Given the description of an element on the screen output the (x, y) to click on. 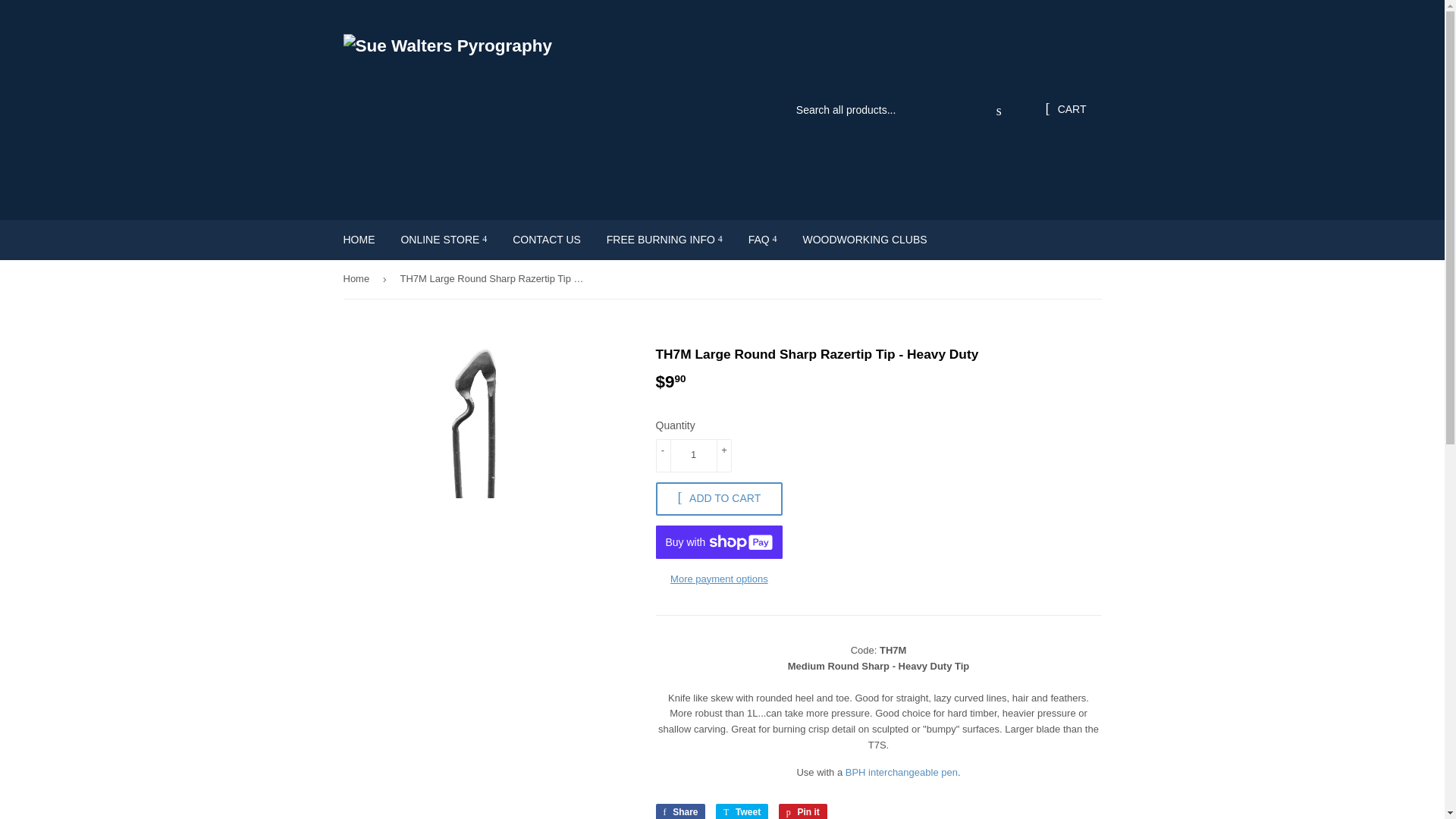
Pin on Pinterest (802, 811)
Tweet on Twitter (742, 811)
Share on Facebook (679, 811)
Search (998, 110)
1 (692, 454)
CART (1064, 109)
